Given the description of an element on the screen output the (x, y) to click on. 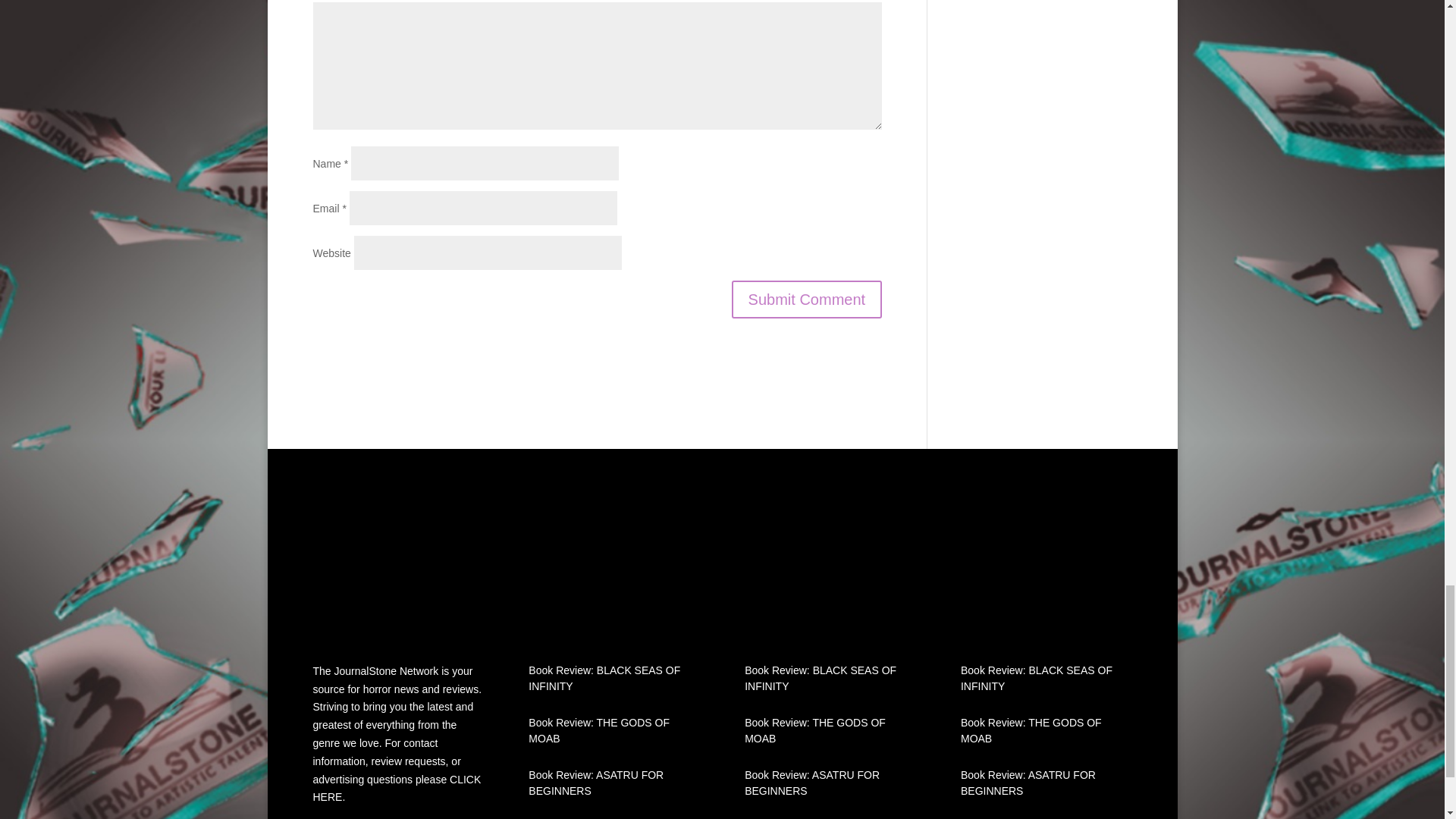
Submit Comment (807, 299)
Book Review: ASATRU FOR BEGINNERS (1028, 782)
Book Review: BLACK SEAS OF INFINITY (1036, 678)
Book Review: BLACK SEAS OF INFINITY (820, 678)
Book Review: THE GODS OF MOAB (814, 730)
Submit Comment (807, 299)
Book Review: ASATRU FOR BEGINNERS (811, 782)
Book Review: BLACK SEAS OF INFINITY (603, 678)
Book Review: THE GODS OF MOAB (598, 730)
CLICK HERE (396, 788)
Book Review: ASATRU FOR BEGINNERS (595, 782)
Book Review: THE GODS OF MOAB (1031, 730)
